Given the description of an element on the screen output the (x, y) to click on. 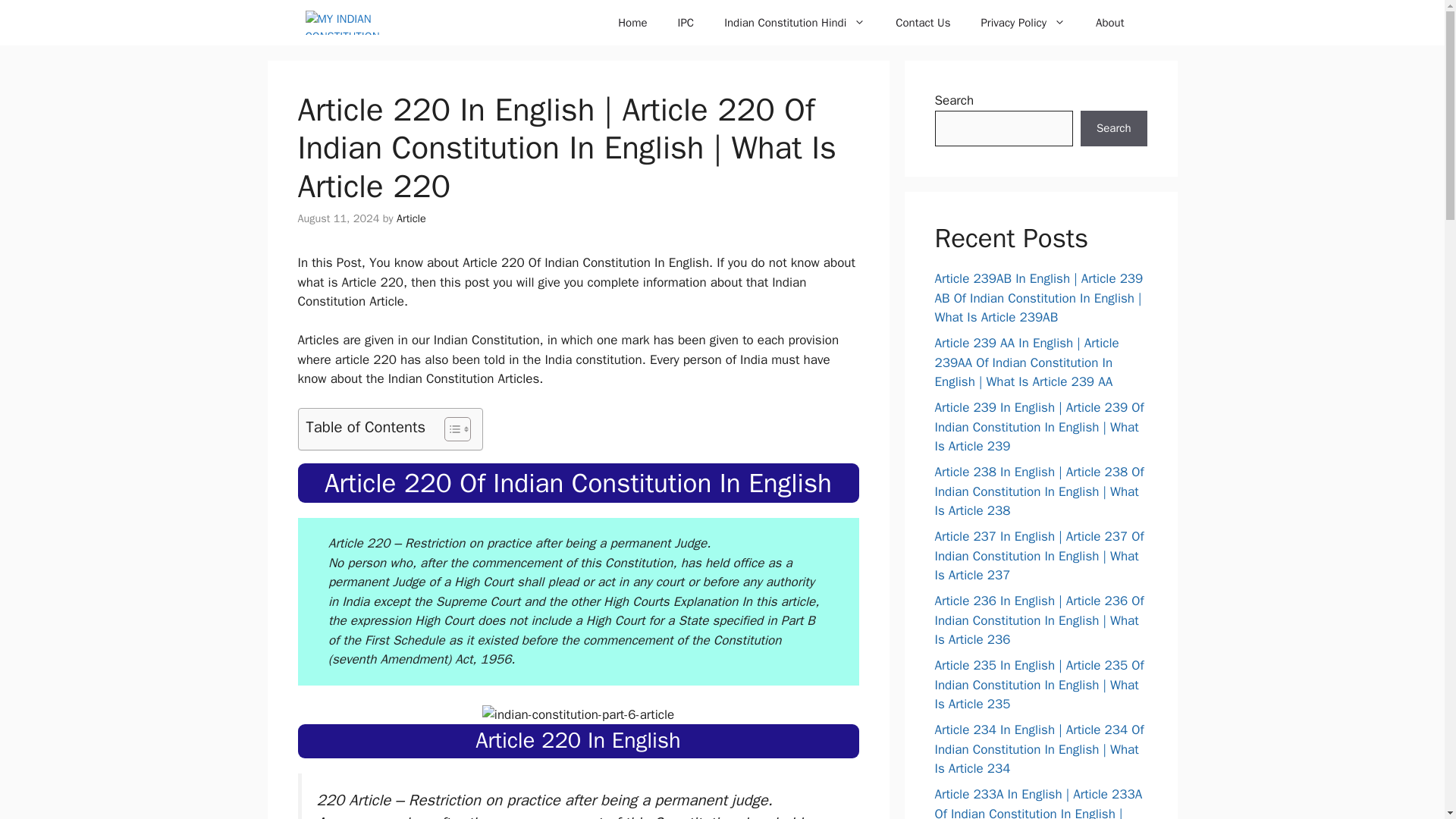
MY INDIAN CONSTITUTION (352, 22)
Contact Us (922, 22)
IPC (686, 22)
About (1109, 22)
Indian Constitution Hindi (794, 22)
Privacy Policy (1022, 22)
Article (411, 218)
Home (632, 22)
View all posts by Article (411, 218)
